Given the description of an element on the screen output the (x, y) to click on. 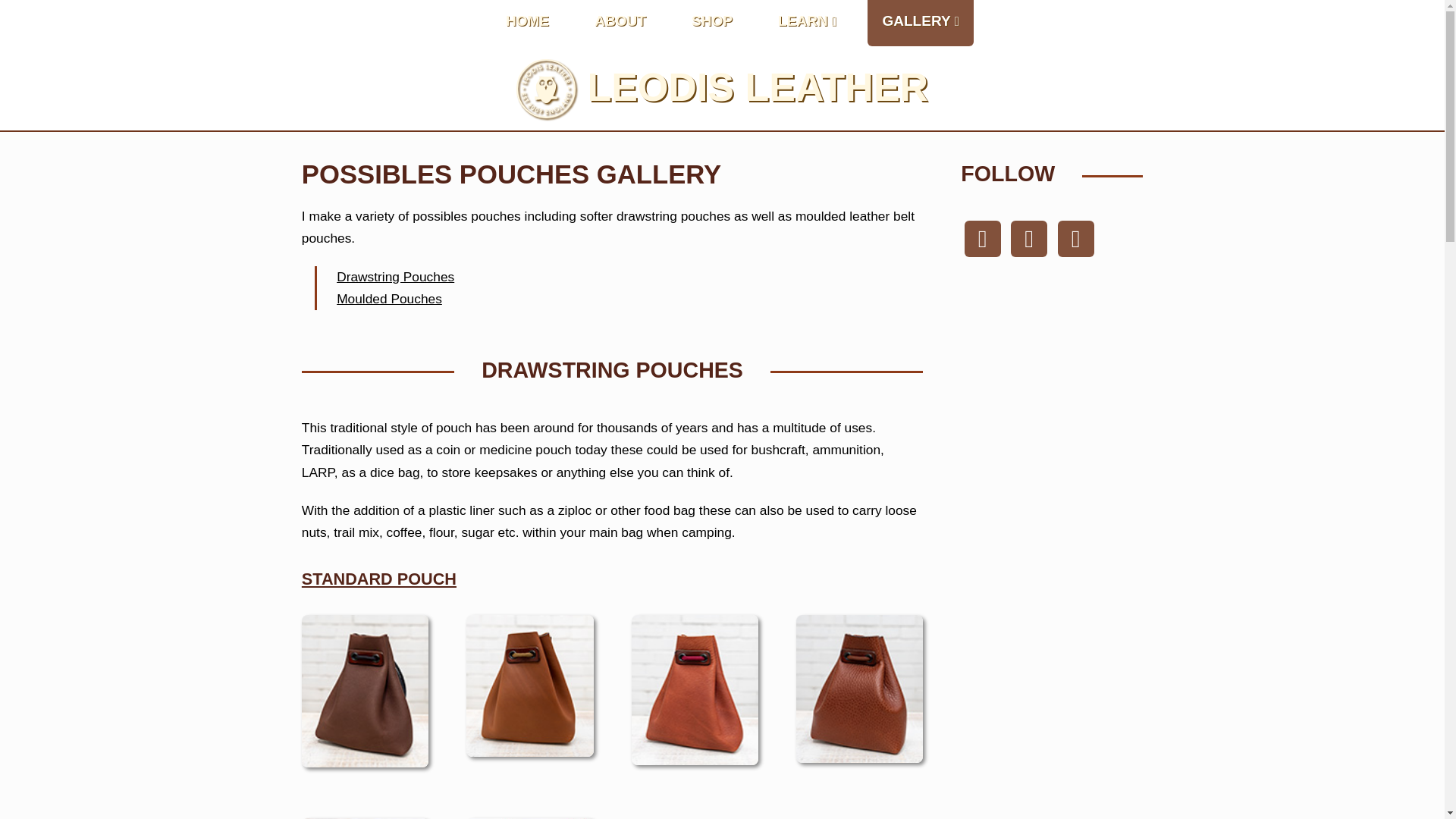
LEARN (806, 22)
SHOP (711, 22)
ABOUT (620, 22)
Drawstring Pouches (395, 276)
LEODIS LEATHER (757, 86)
Moulded Pouches (389, 298)
GALLERY (920, 22)
HOME (527, 22)
